Given the description of an element on the screen output the (x, y) to click on. 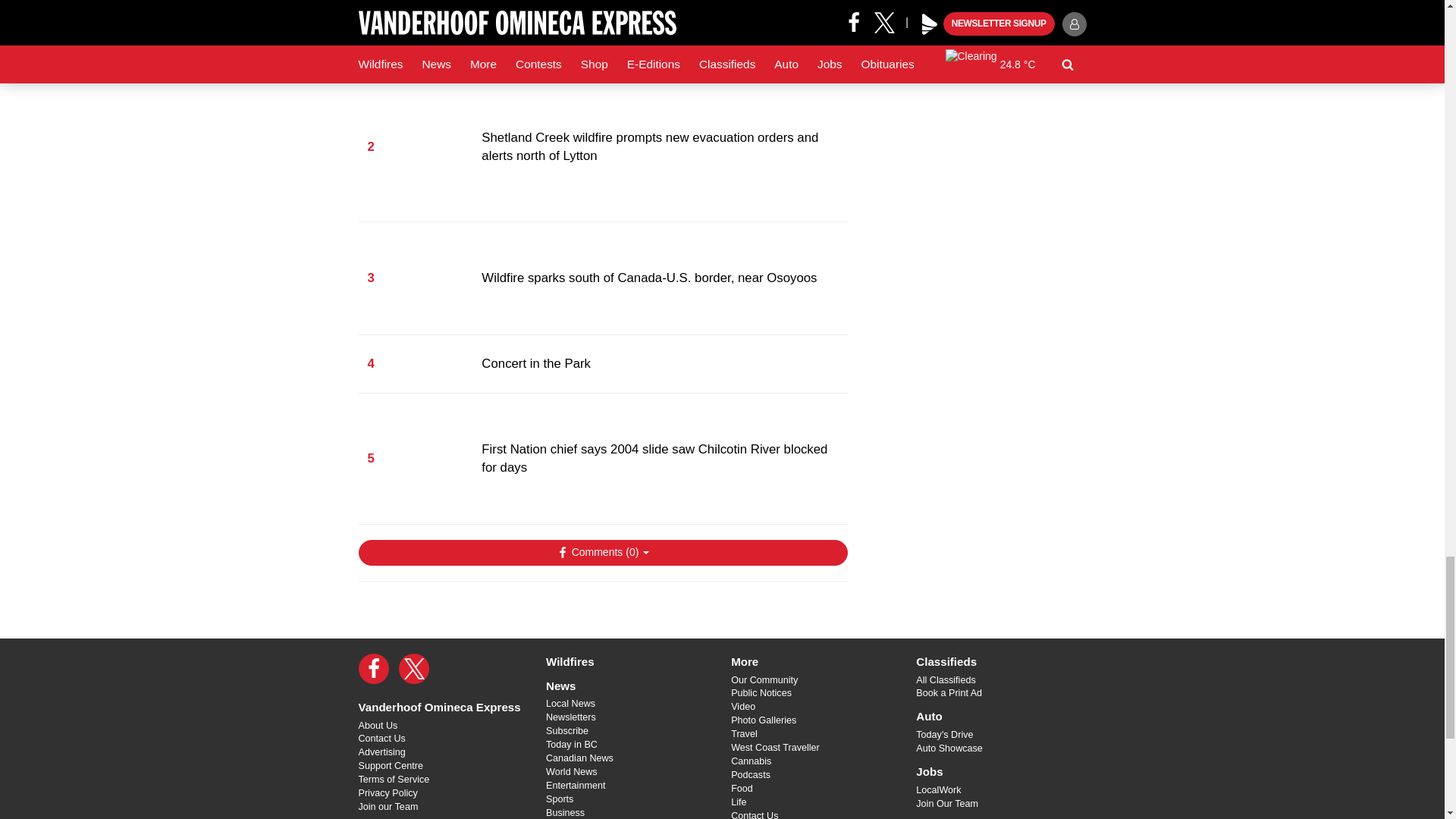
X (413, 668)
Facebook (373, 668)
Show Comments (602, 552)
